Given the description of an element on the screen output the (x, y) to click on. 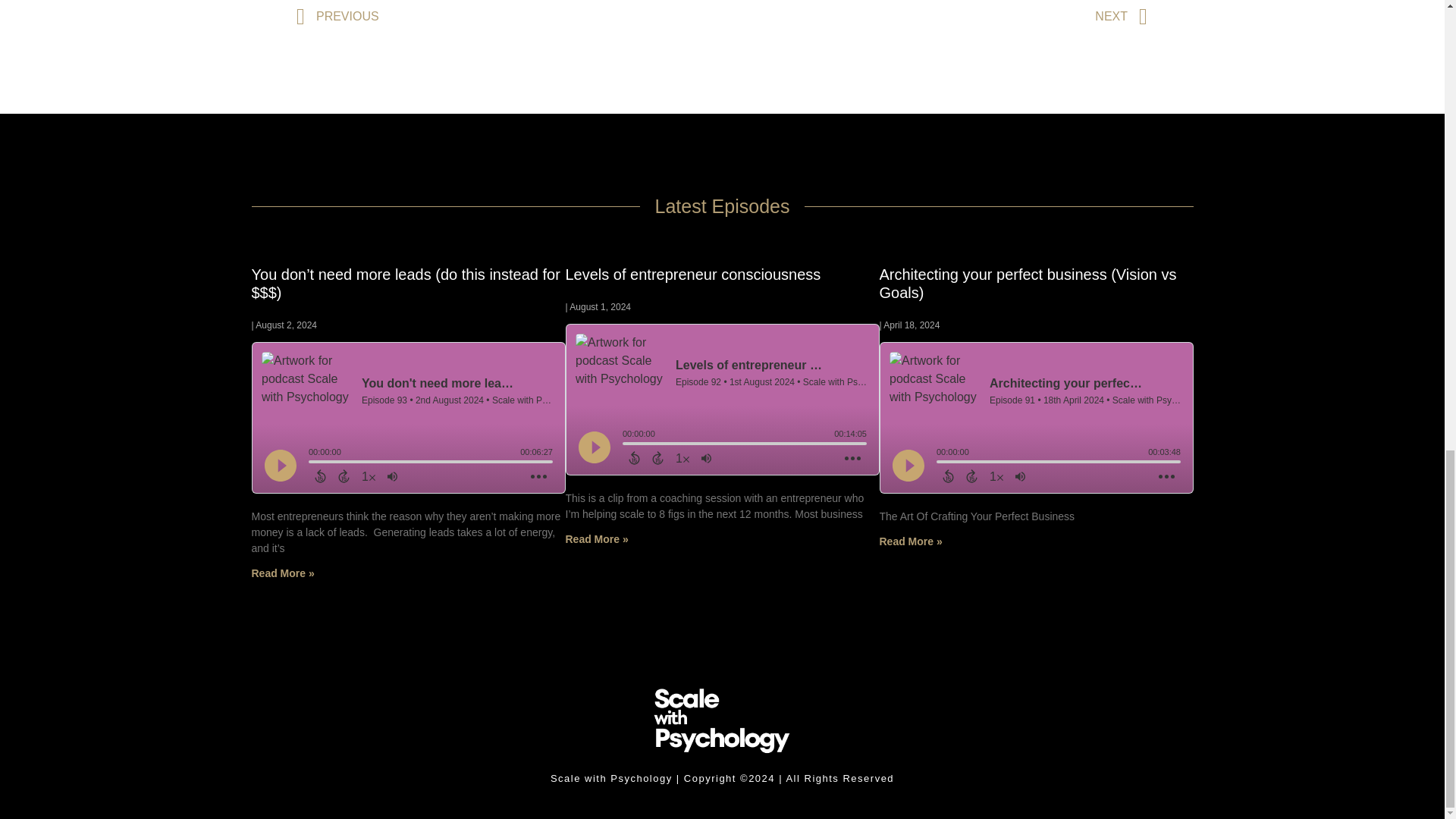
PREVIOUS (509, 17)
Levels of entrepreneur consciousness (693, 274)
NEXT (934, 17)
